Given the description of an element on the screen output the (x, y) to click on. 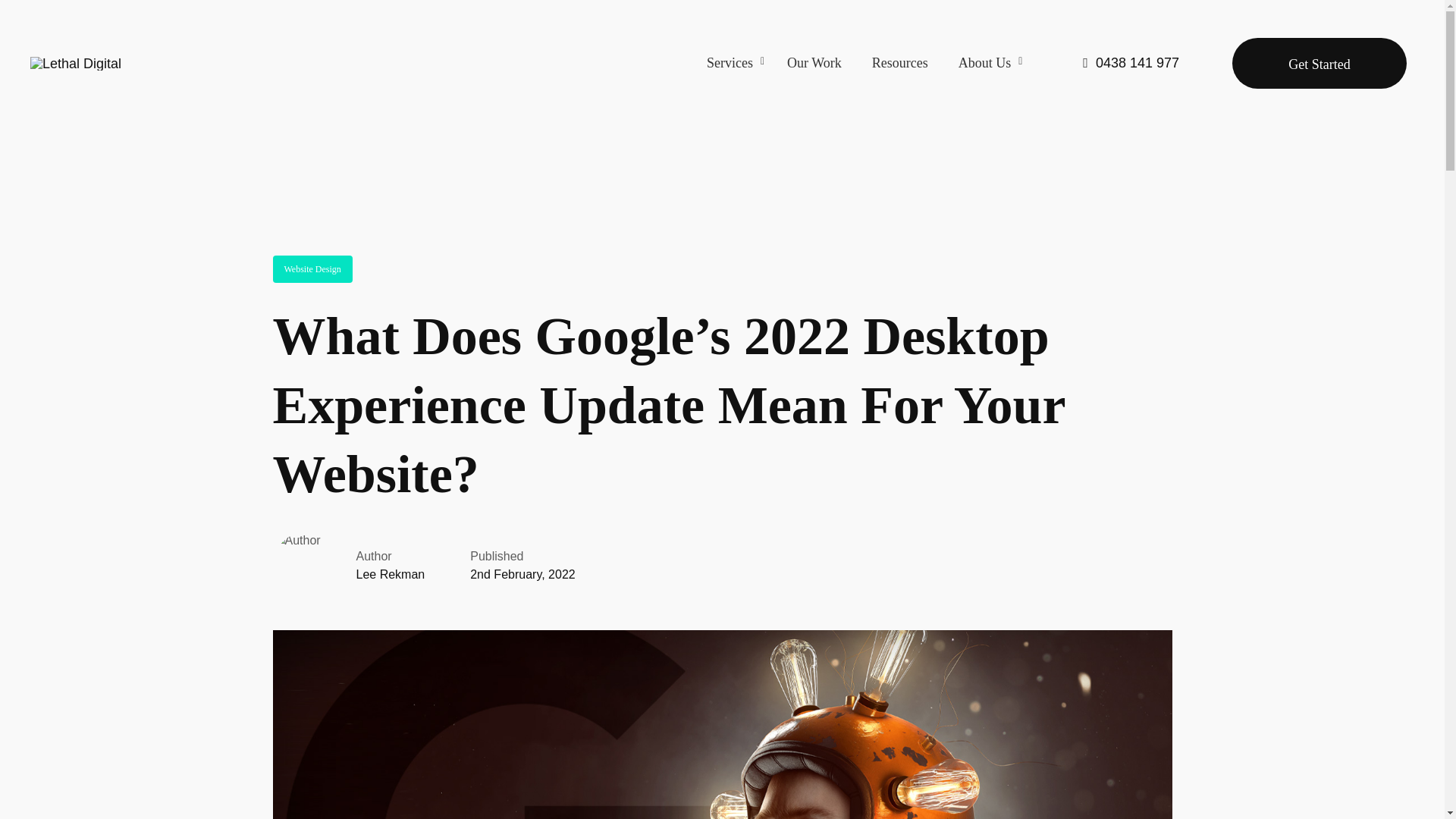
About Us (986, 63)
Get Started (1318, 62)
0438 141 977 (1131, 62)
Resources (867, 63)
Services (900, 63)
Our Work (738, 63)
